Given the description of an element on the screen output the (x, y) to click on. 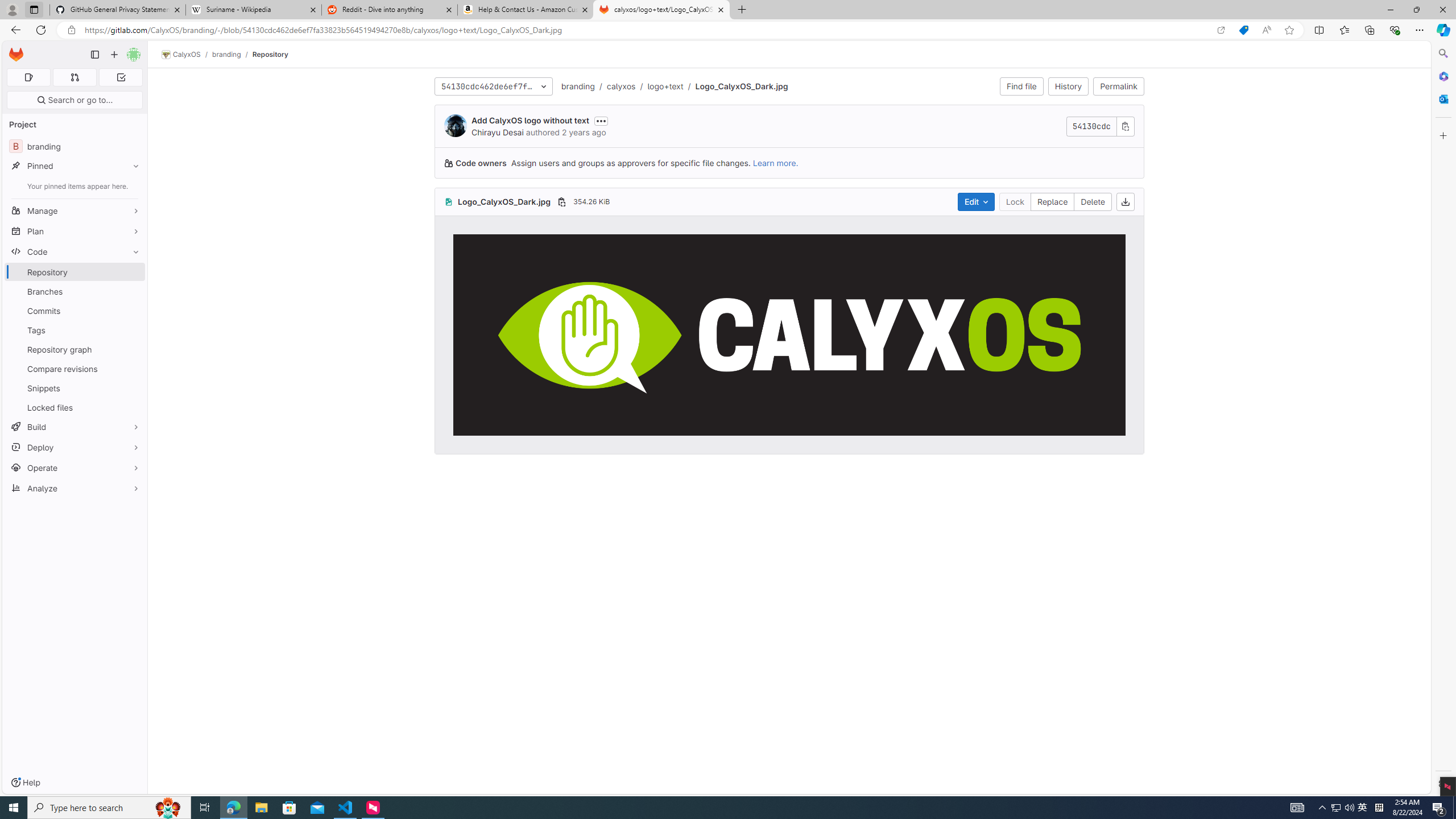
Edit (975, 201)
Compare revisions (74, 368)
Lock (1014, 201)
Suriname - Wikipedia (253, 9)
Repository (269, 53)
Build (74, 426)
Class: s16 gl-icon gl-button-icon  (1125, 126)
Copy file path (560, 201)
Commits (74, 310)
Repository graph (74, 348)
